Given the description of an element on the screen output the (x, y) to click on. 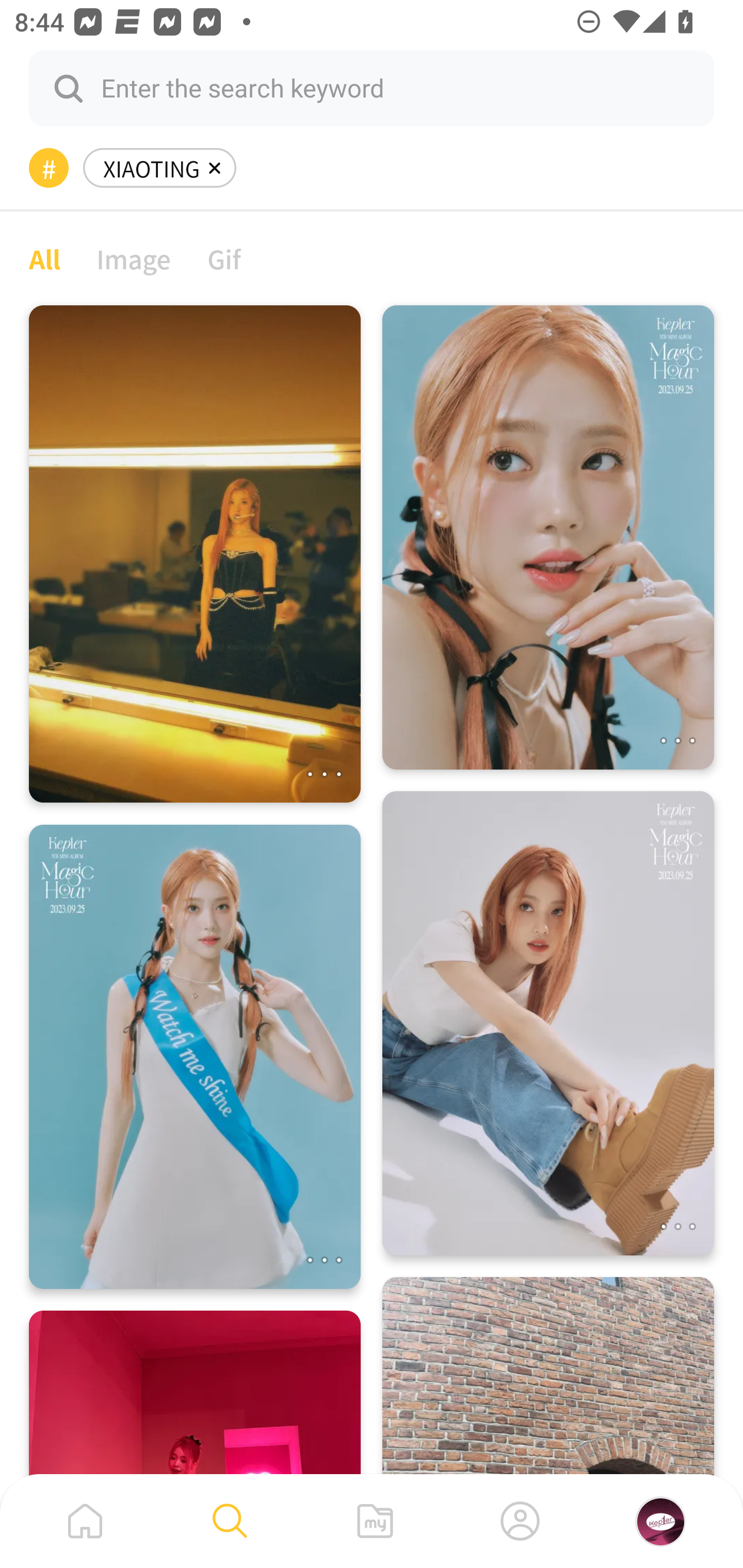
All (44, 257)
Image (133, 257)
Gif (223, 257)
